Given the description of an element on the screen output the (x, y) to click on. 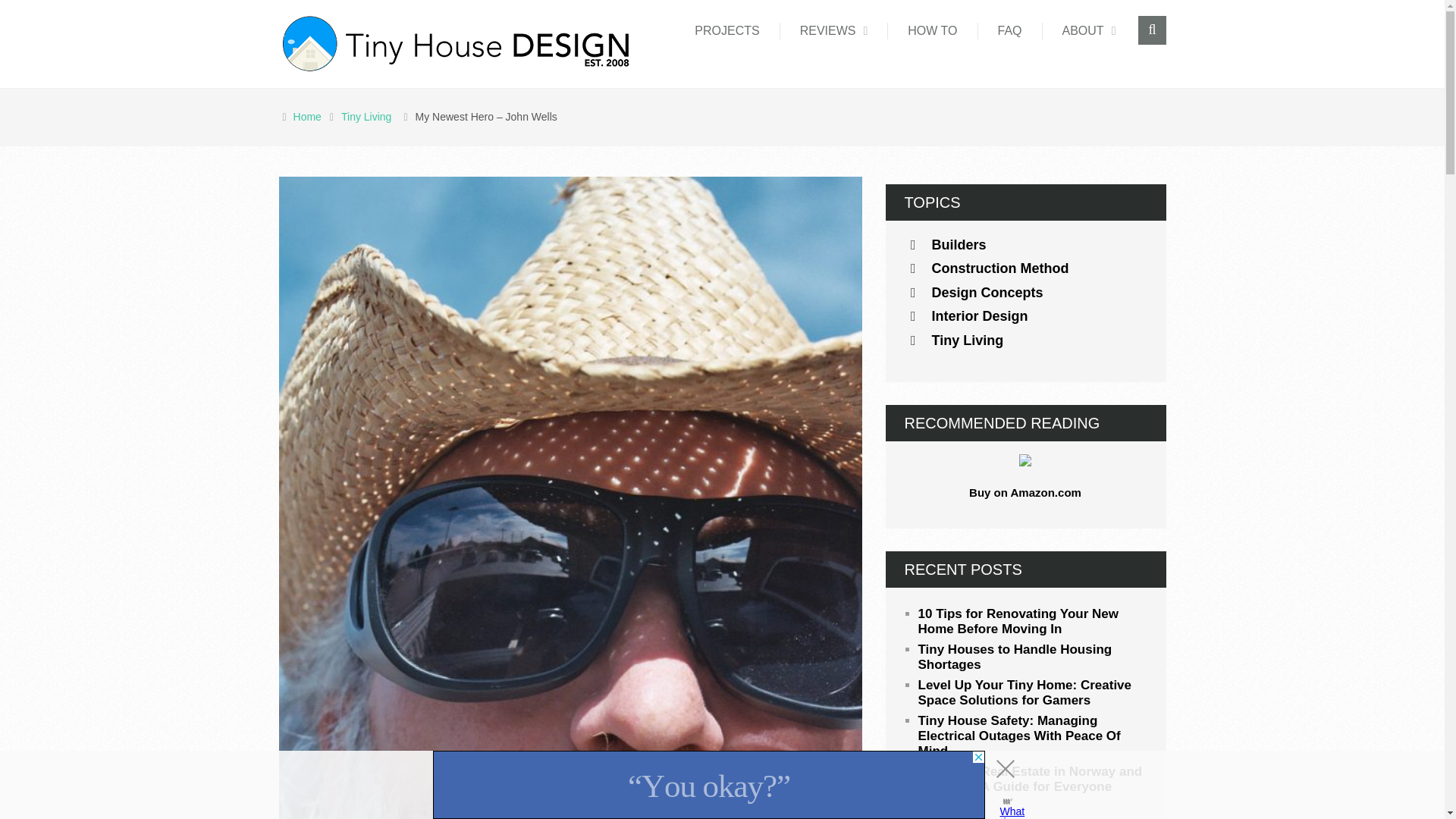
ABOUT (1088, 30)
Home (310, 116)
HOW TO (932, 30)
REVIEWS (834, 30)
FAQ (1010, 30)
PROJECTS (726, 30)
Tiny Living (368, 116)
